Given the description of an element on the screen output the (x, y) to click on. 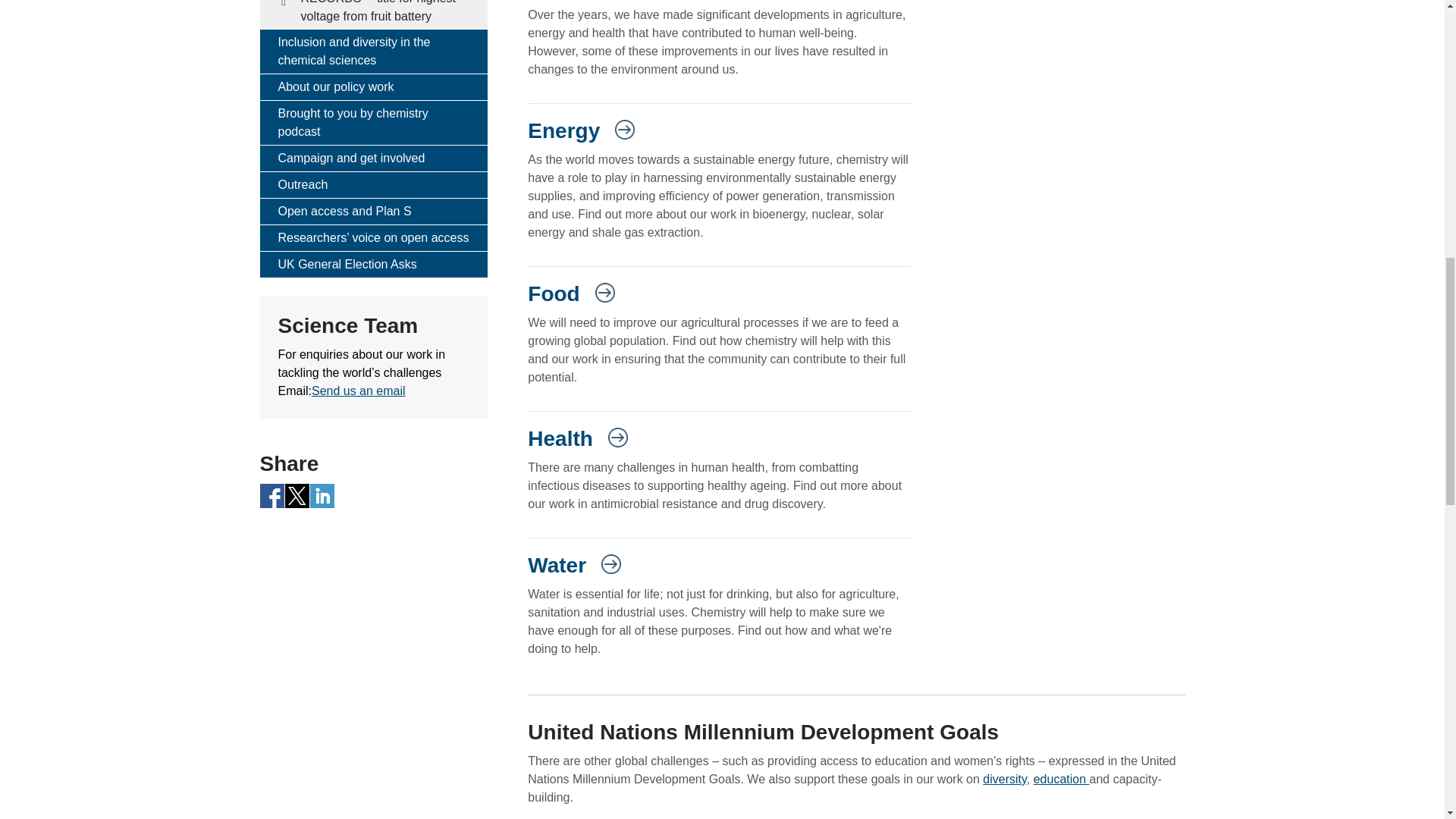
Food (570, 294)
Health (577, 439)
diversity (1004, 779)
Water (574, 566)
Energy (580, 131)
